Given the description of an element on the screen output the (x, y) to click on. 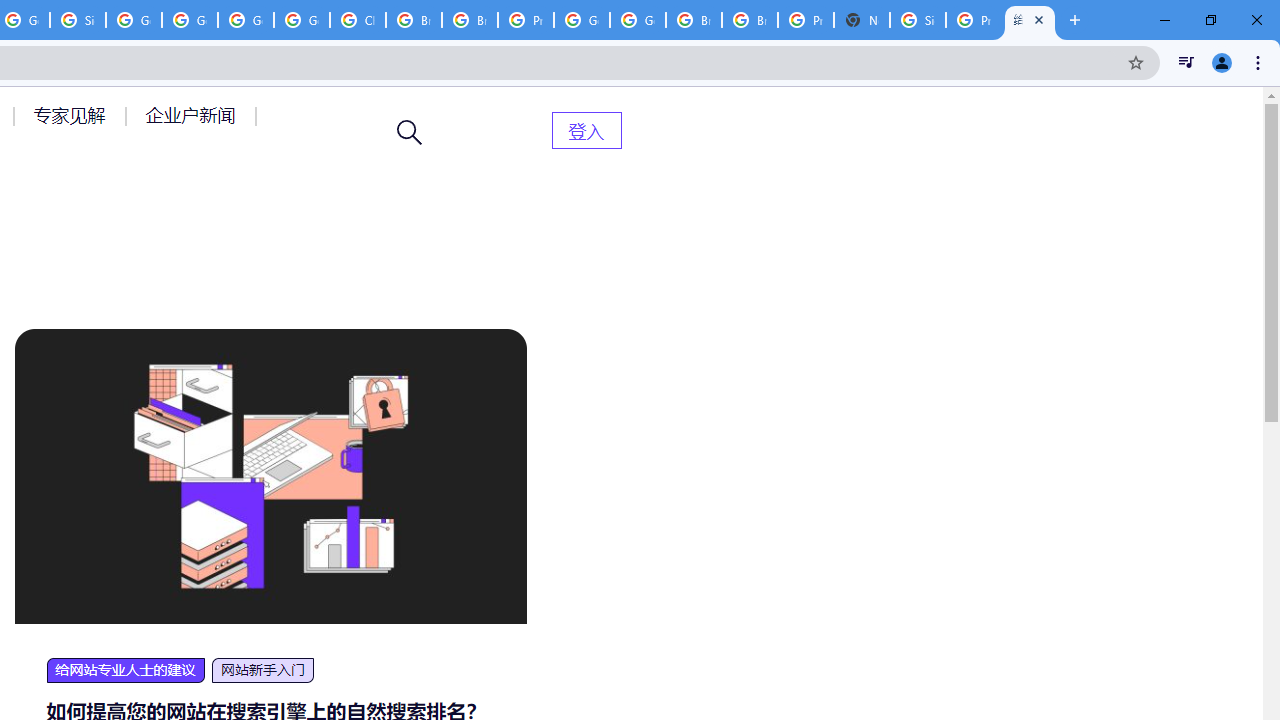
AutomationID: menu-item-82399 (586, 129)
Sign in - Google Accounts (77, 20)
Browse Chrome as a guest - Computer - Google Chrome Help (749, 20)
Google Cloud Platform (582, 20)
Browse Chrome as a guest - Computer - Google Chrome Help (693, 20)
Google Cloud Platform (637, 20)
